Given the description of an element on the screen output the (x, y) to click on. 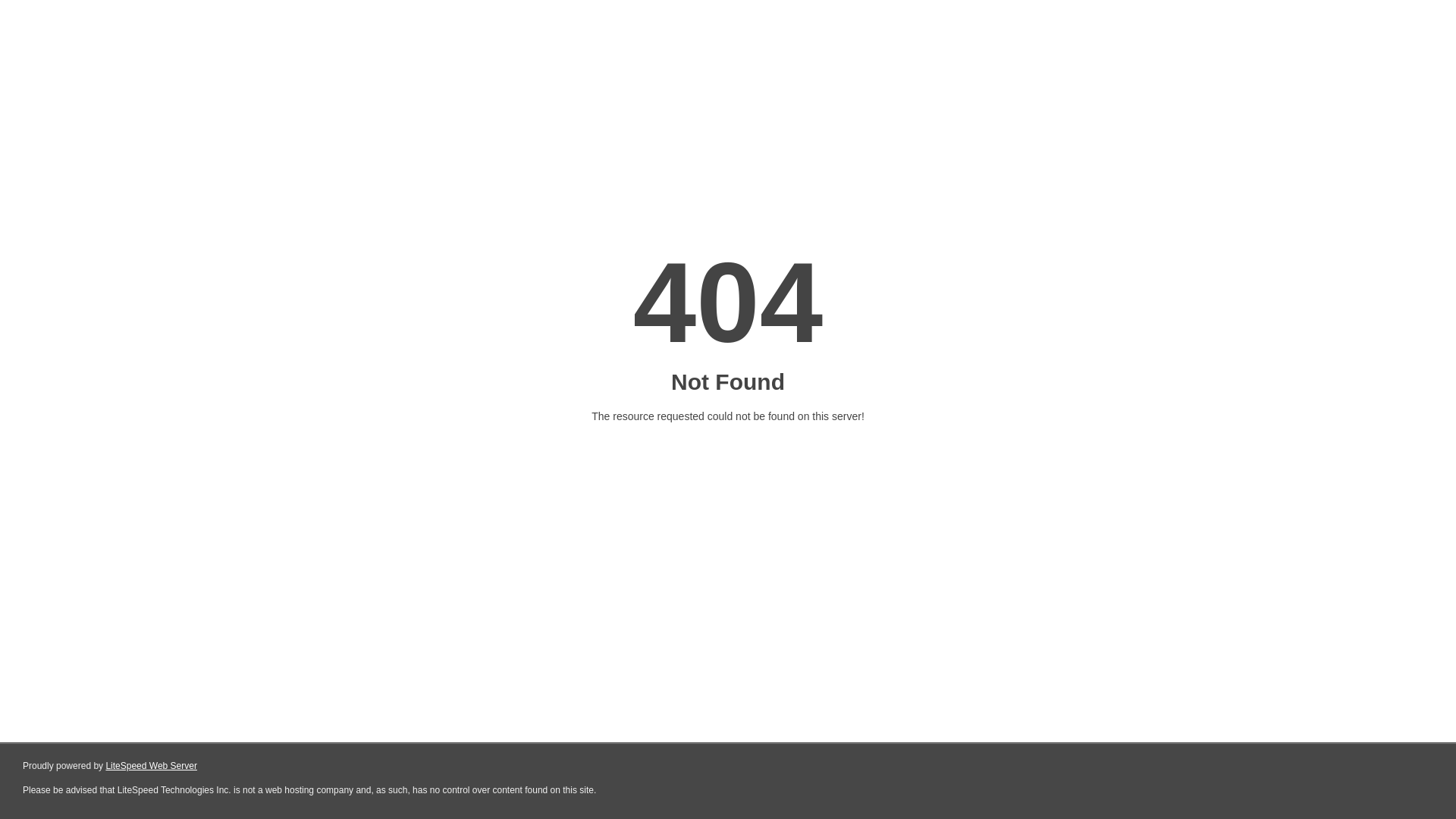
LiteSpeed Web Server Element type: text (151, 765)
